Given the description of an element on the screen output the (x, y) to click on. 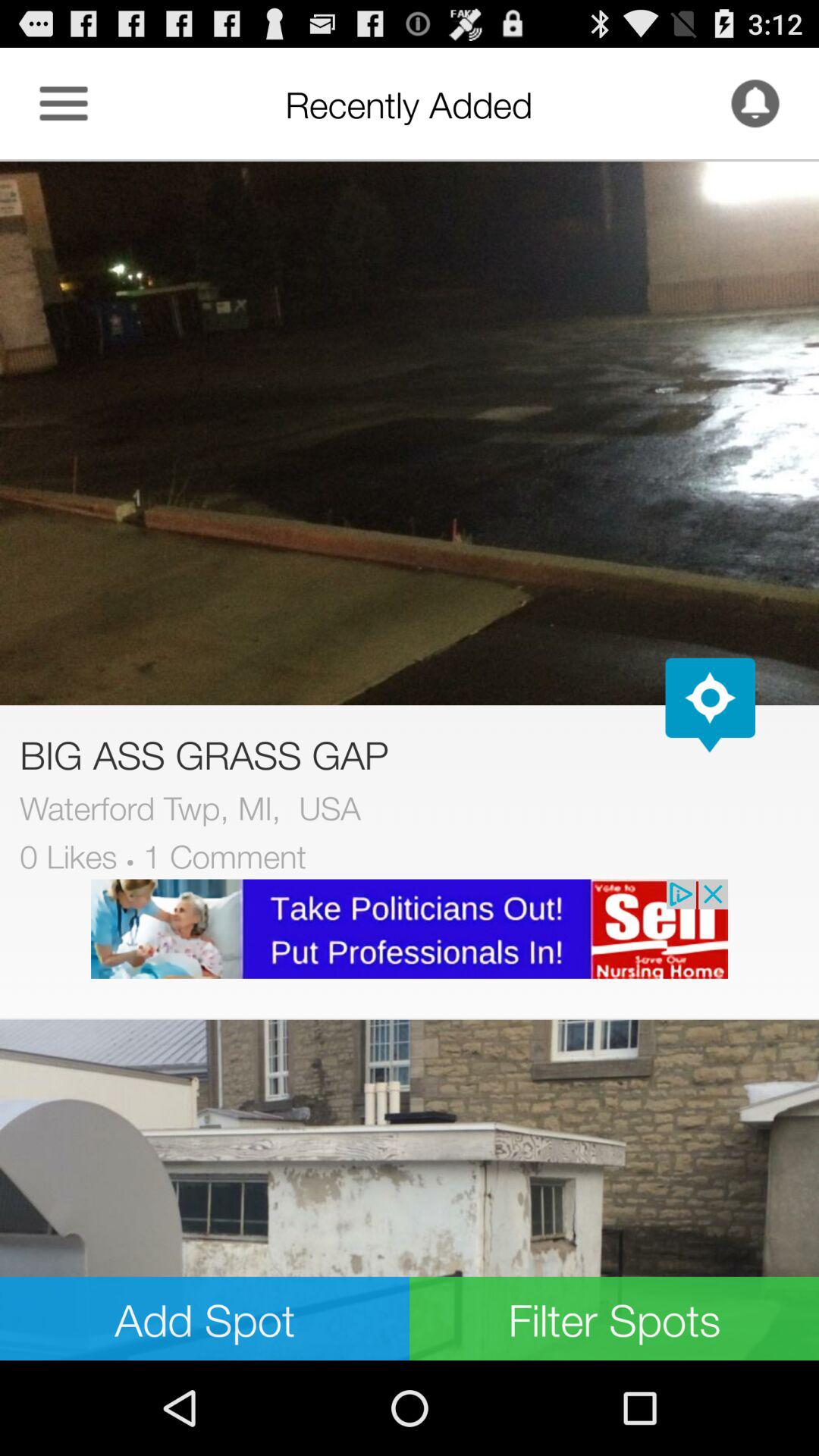
go to the advertised site (409, 928)
